Given the description of an element on the screen output the (x, y) to click on. 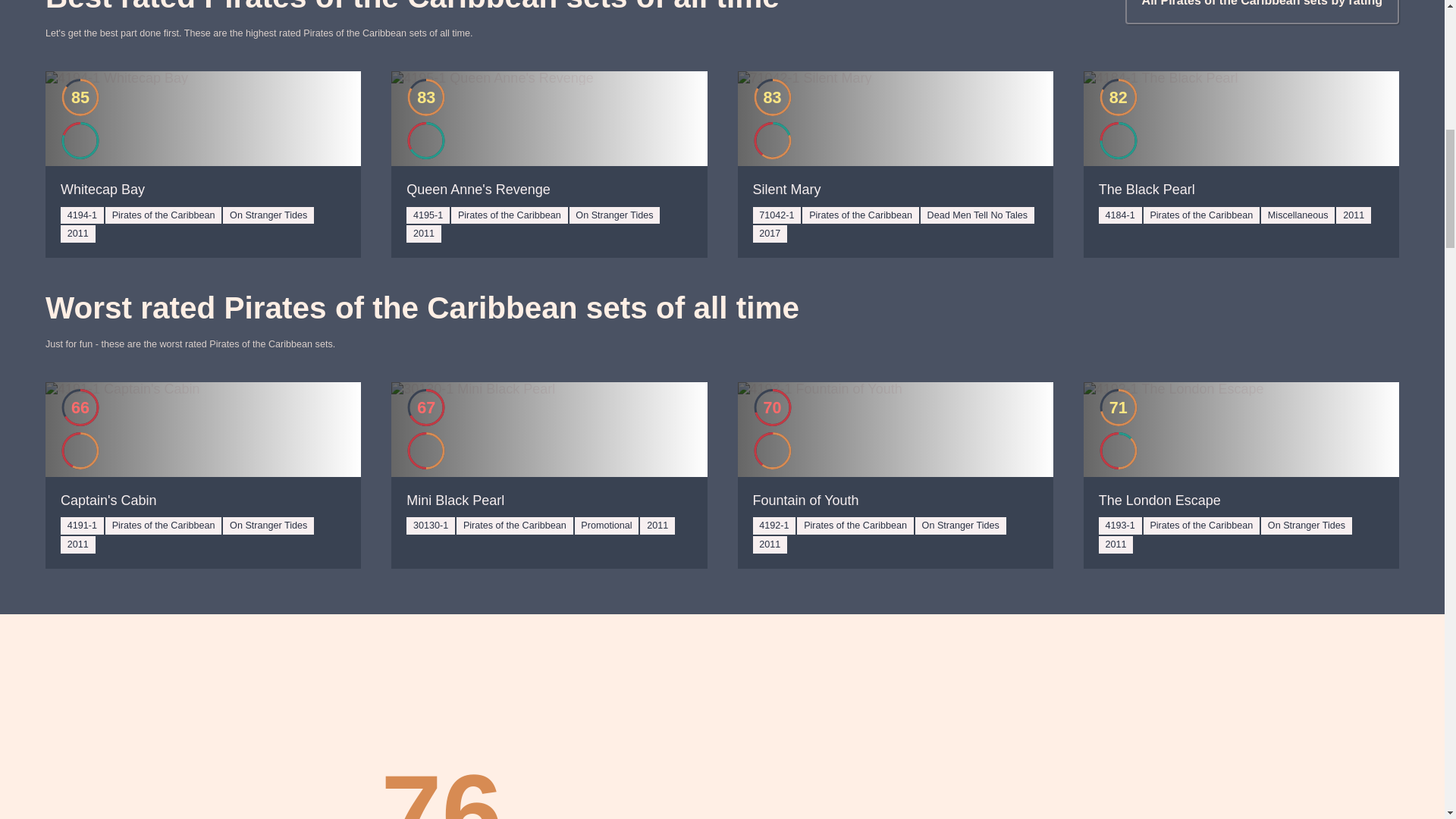
All Pirates of the Caribbean sets by rating (1262, 12)
